Given the description of an element on the screen output the (x, y) to click on. 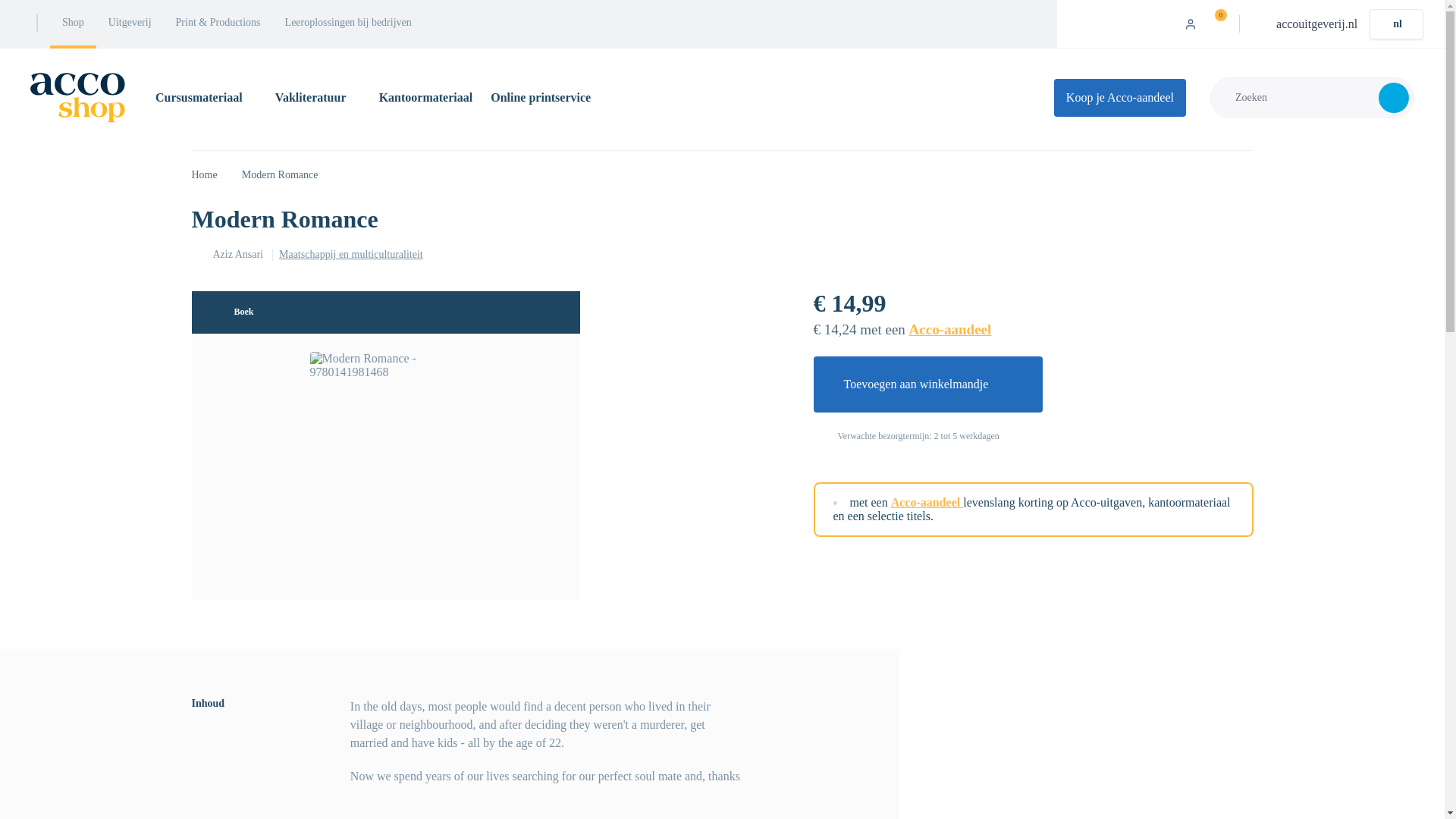
accouitgeverij.nl (1316, 23)
Leeroplossingen bij bedrijven (348, 24)
Shop (72, 24)
Modern Romance - 9780141981468 (384, 458)
Uitgeverij (129, 24)
